Given the description of an element on the screen output the (x, y) to click on. 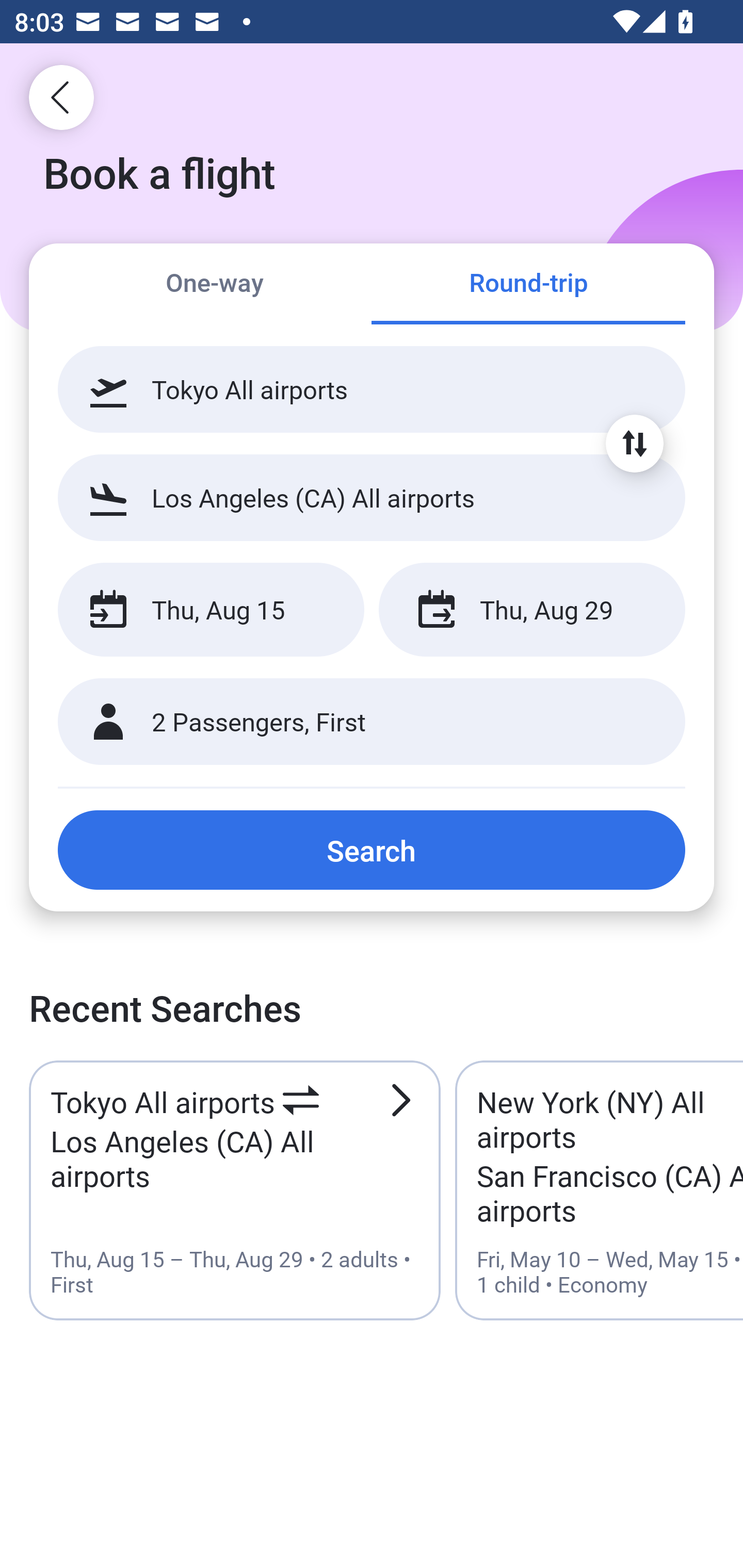
One-way (214, 284)
Tokyo All airports (371, 389)
Los Angeles (CA) All airports (371, 497)
Thu, Aug 15 (210, 609)
Thu, Aug 29 (531, 609)
2 Passengers, First (371, 721)
Search (371, 849)
